Given the description of an element on the screen output the (x, y) to click on. 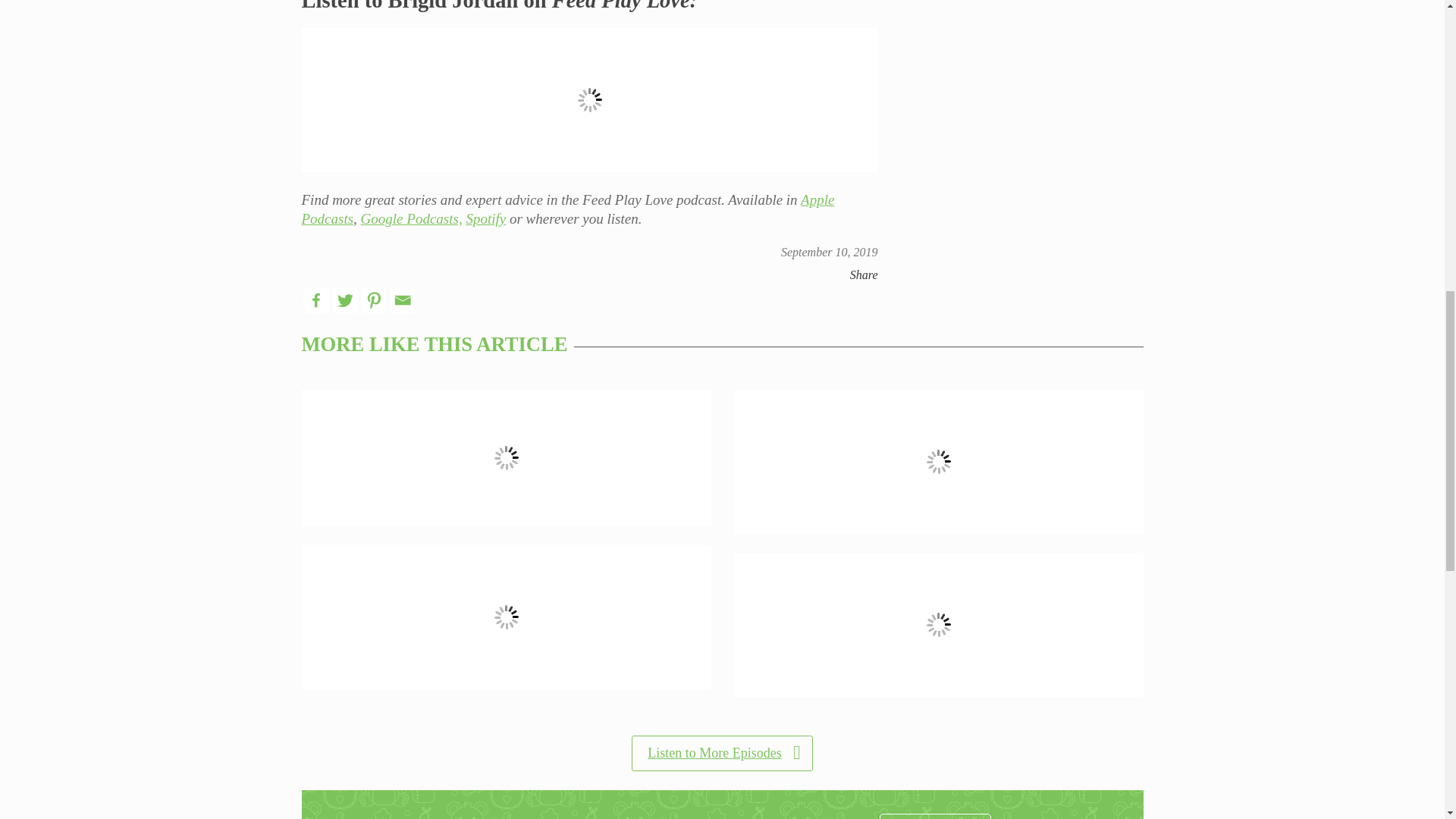
Facebook (315, 299)
Spotify (485, 218)
Pinterest (374, 299)
Email (402, 299)
How to accept your post-baby body (506, 457)
9:13 am (828, 251)
Apple Podcasts (567, 208)
Twitter (344, 299)
Google Podcasts, (412, 218)
September 10, 2019 (828, 251)
